Given the description of an element on the screen output the (x, y) to click on. 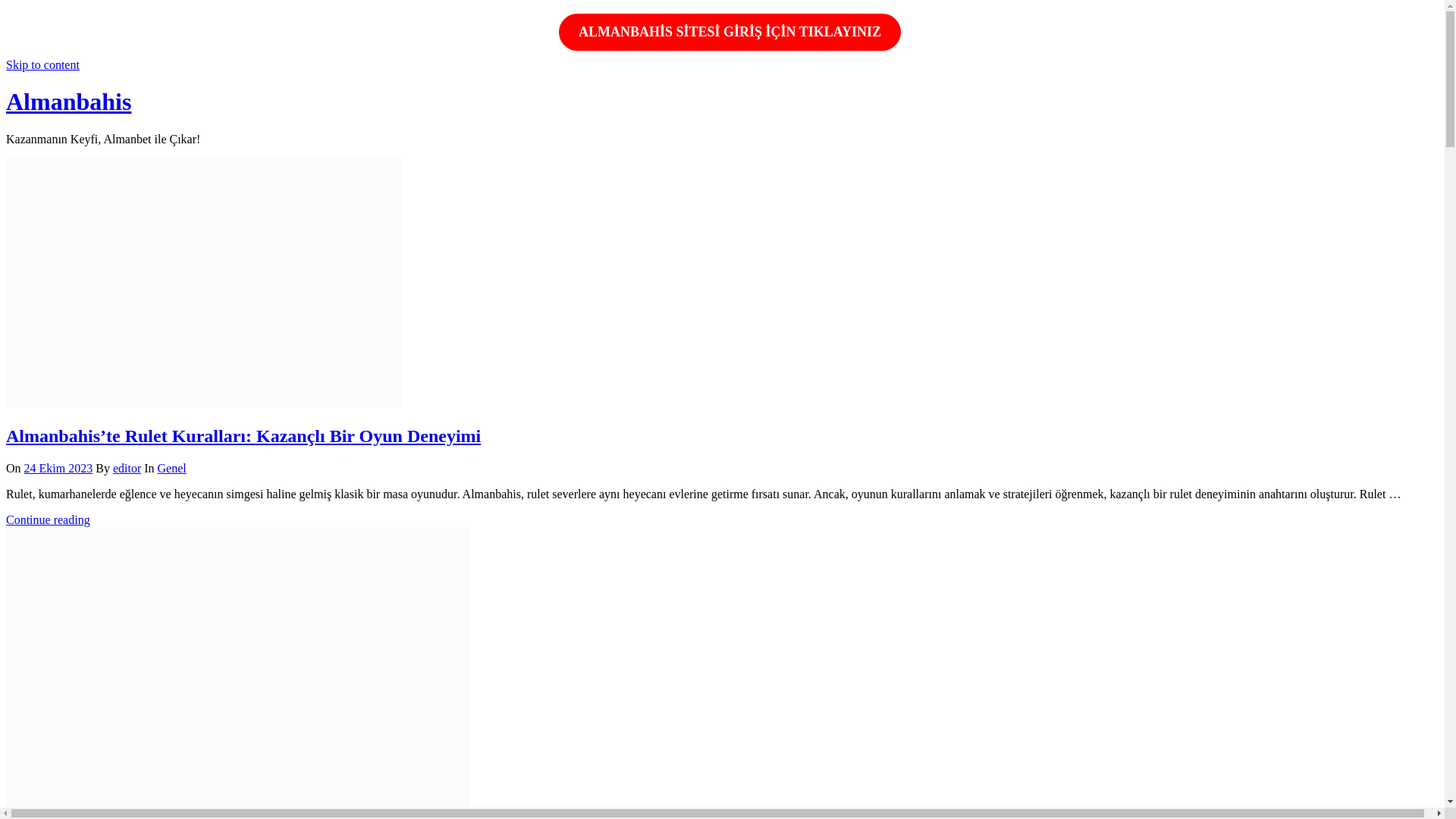
editor Element type: text (126, 467)
24 Ekim 2023 Element type: text (58, 467)
Almanbahis Element type: text (68, 101)
Genel Element type: text (171, 467)
Continue reading Element type: text (48, 519)
Skip to content Element type: text (42, 64)
